Given the description of an element on the screen output the (x, y) to click on. 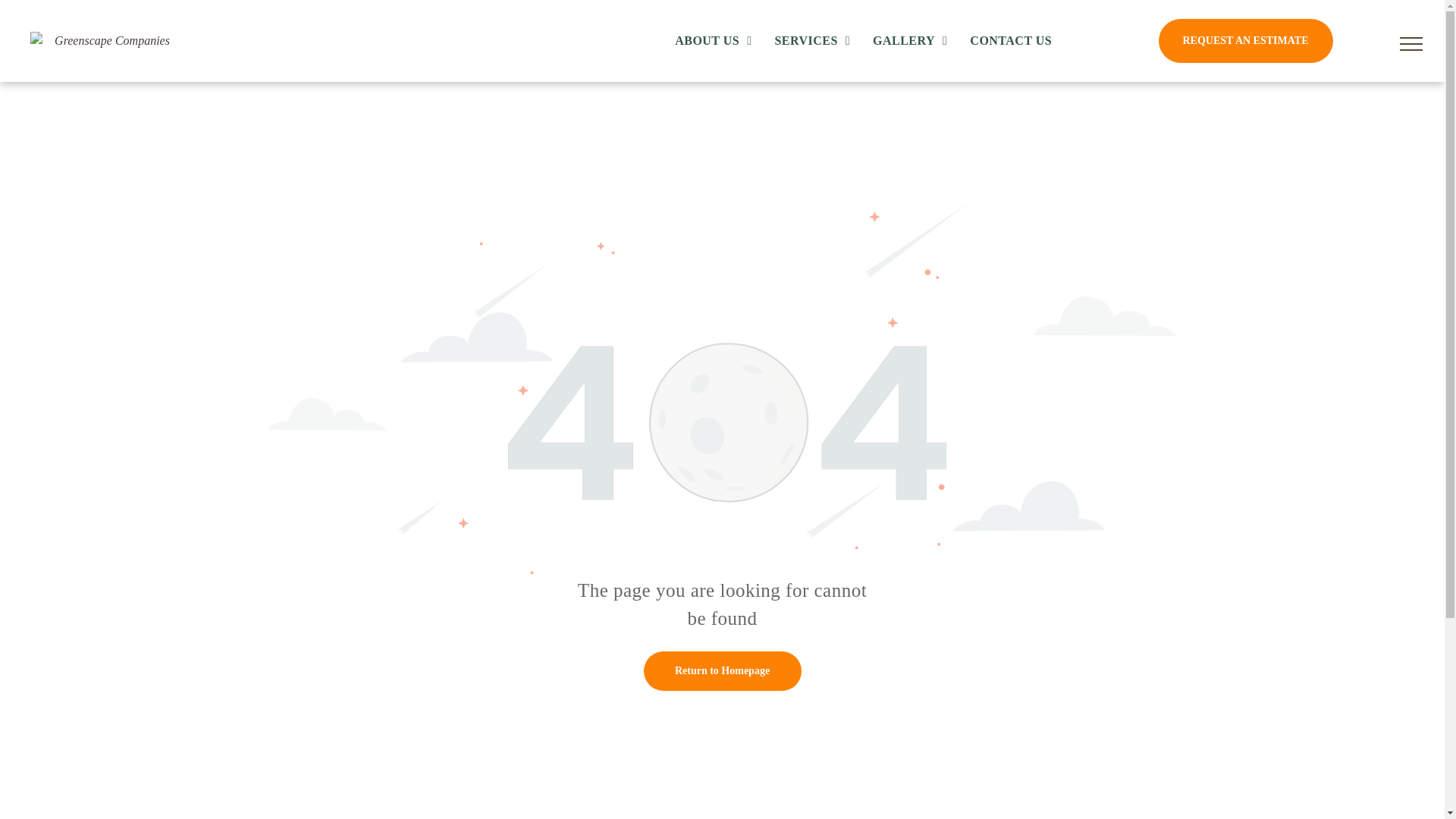
Return to Homepage (721, 671)
ABOUT US (716, 40)
REQUEST AN ESTIMATE (1245, 40)
CONTACT US (1014, 40)
GALLERY (913, 40)
SERVICES (815, 40)
